Given the description of an element on the screen output the (x, y) to click on. 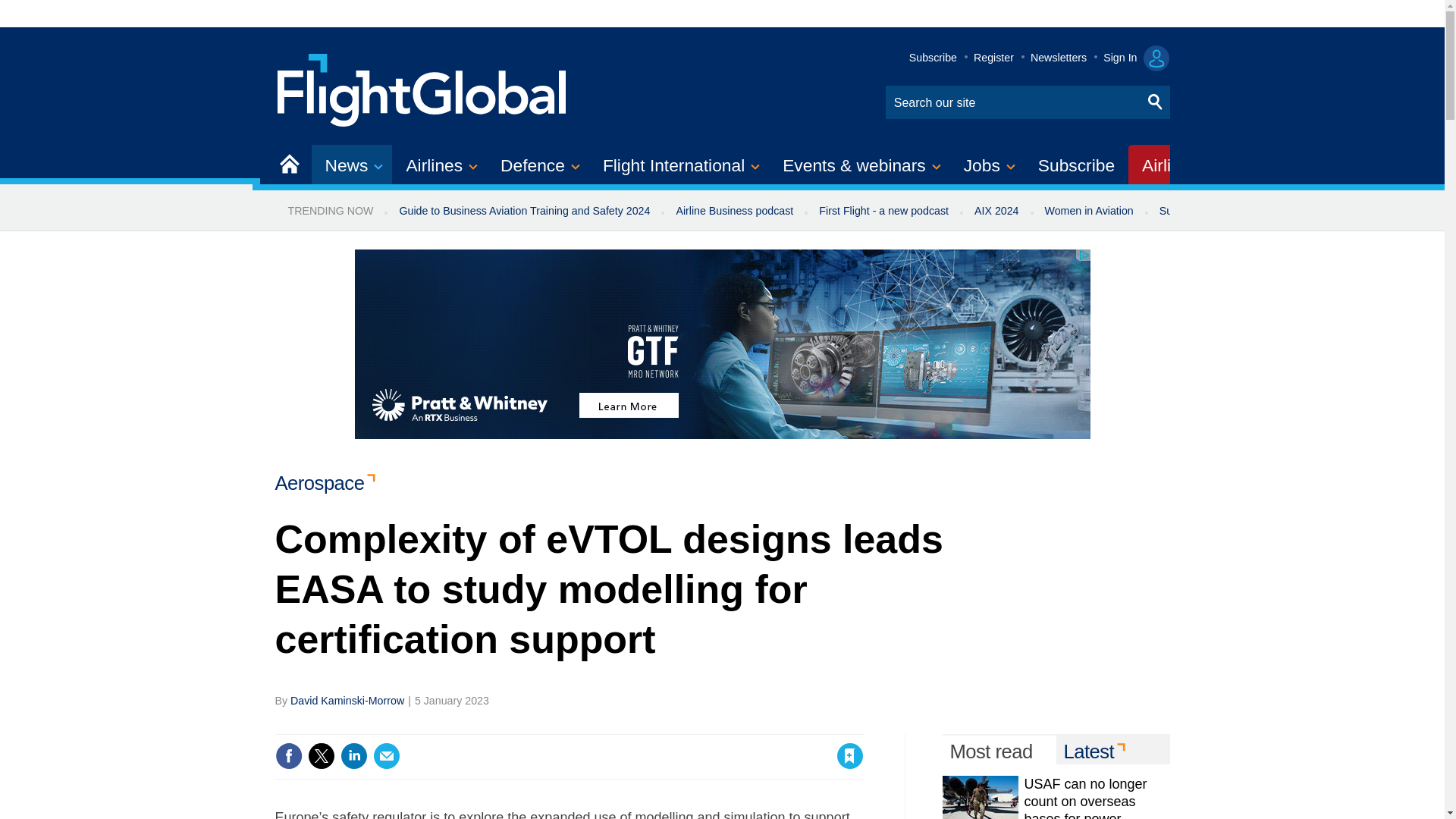
Airline Business podcast (734, 210)
Share this on Twitter (320, 755)
Site name (422, 88)
Sustainable Aviation newsletter (1234, 210)
Guide to Business Aviation Training and Safety 2024 (523, 210)
Share this on Facebook (288, 755)
AIX 2024 (996, 210)
Share this on Linked in (352, 755)
